Given the description of an element on the screen output the (x, y) to click on. 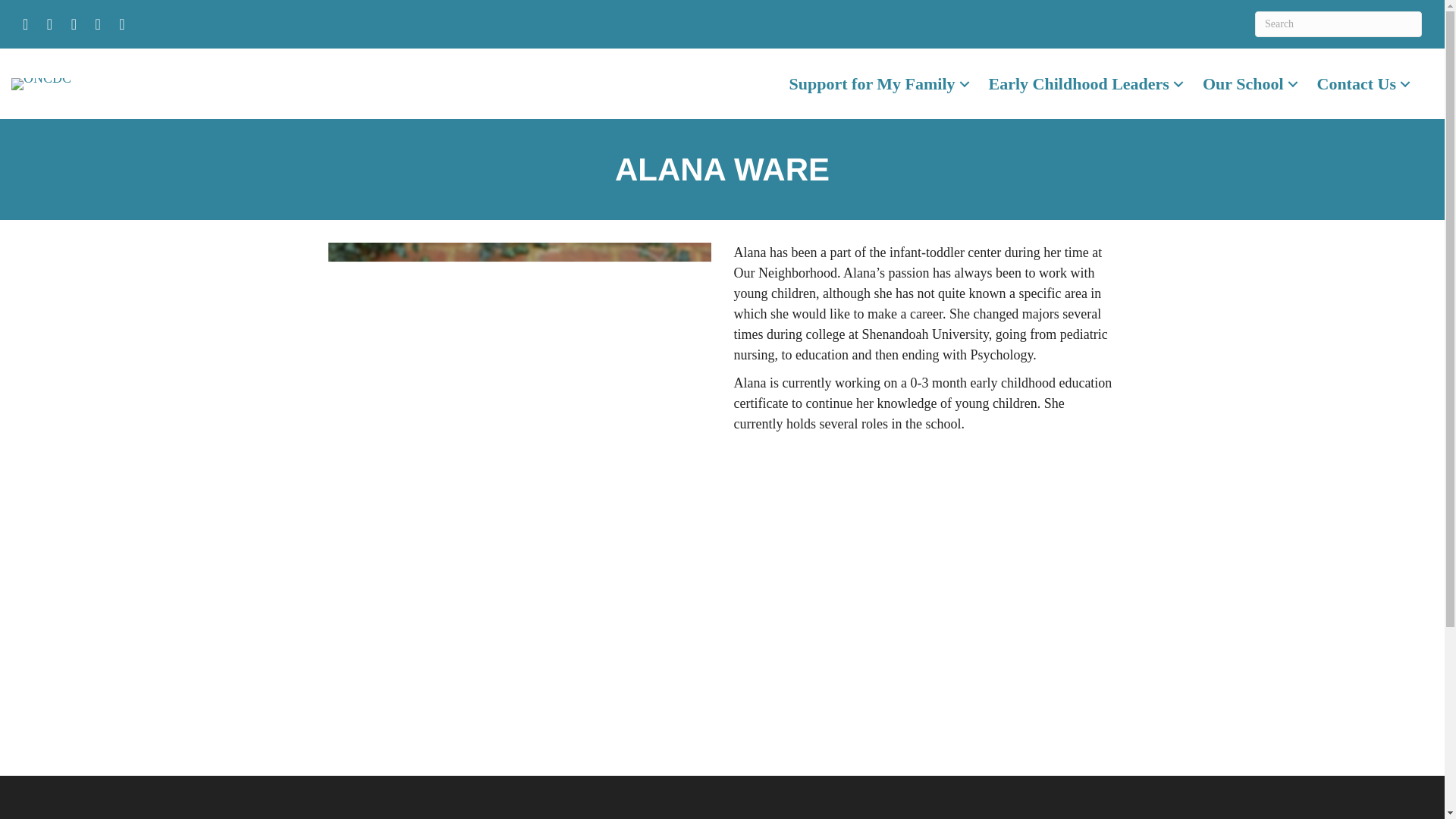
Type and press Enter to search. (1338, 23)
Early Childhood Leaders (1088, 83)
Our School (1251, 83)
Support for My Family (881, 83)
ONCDC (41, 82)
